Given the description of an element on the screen output the (x, y) to click on. 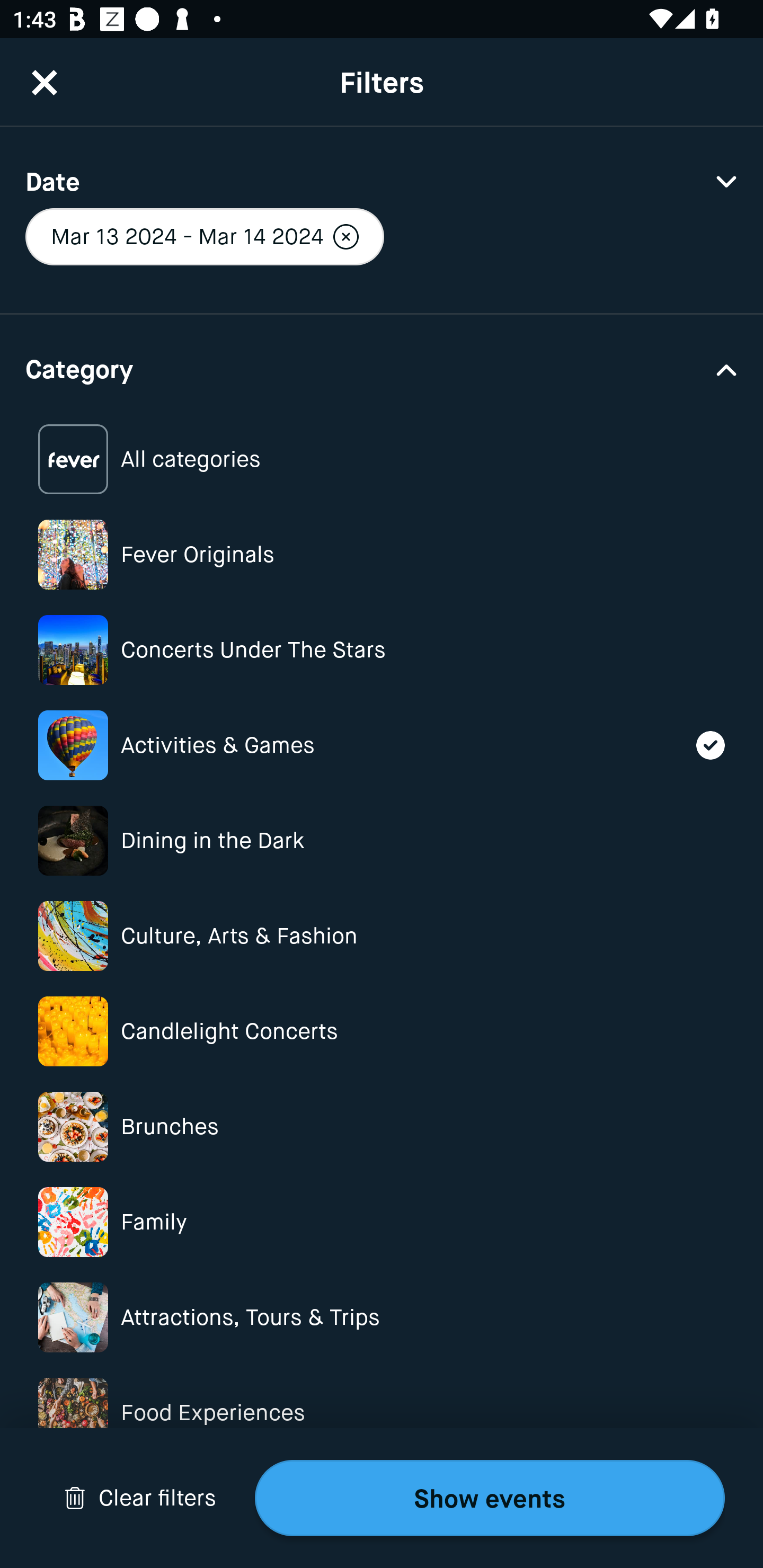
CloseButton (44, 82)
Mar 13 2024 - Mar 14 2024 Localized description (204, 236)
Category Drop Down Arrow (381, 368)
Category Image All categories (381, 459)
Category Image Fever Originals (381, 553)
Category Image Concerts Under The Stars (381, 649)
Category Image Activities & Games Selected Icon (381, 745)
Category Image Dining in the Dark (381, 840)
Category Image Culture, Arts & Fashion (381, 935)
Category Image Candlelight Concerts (381, 1030)
Category Image Brunches (381, 1126)
Category Image Family (381, 1221)
Category Image Attractions, Tours & Trips (381, 1317)
Category Image Food Experiences (381, 1412)
Drop Down Arrow Clear filters (139, 1497)
Show events (489, 1497)
